Given the description of an element on the screen output the (x, y) to click on. 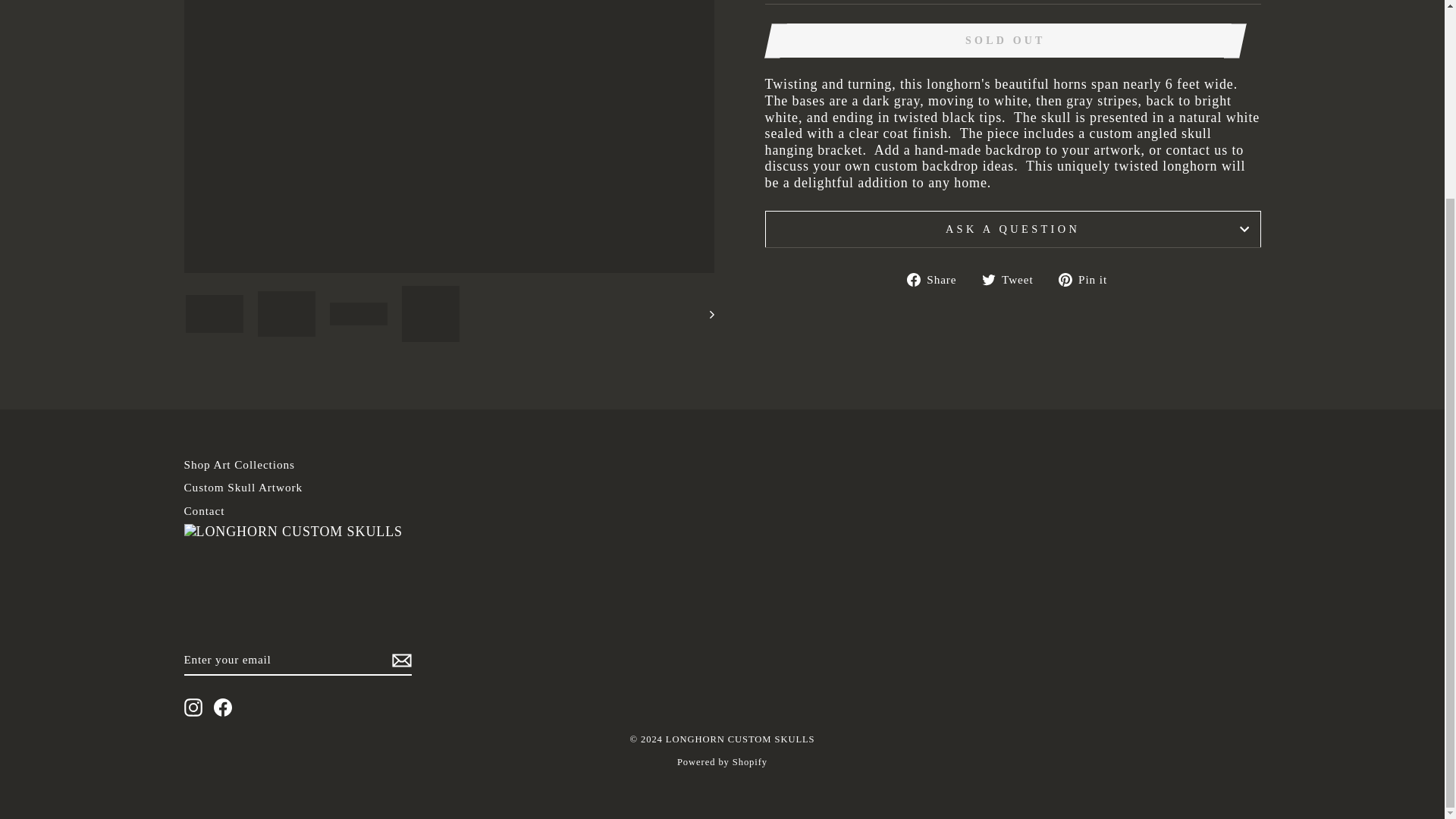
LONGHORN CUSTOM SKULLS on Instagram (192, 707)
Tweet on Twitter (1013, 279)
Share on Facebook (937, 279)
LONGHORN CUSTOM SKULLS on Facebook (222, 707)
Pin on Pinterest (1088, 279)
